Given the description of an element on the screen output the (x, y) to click on. 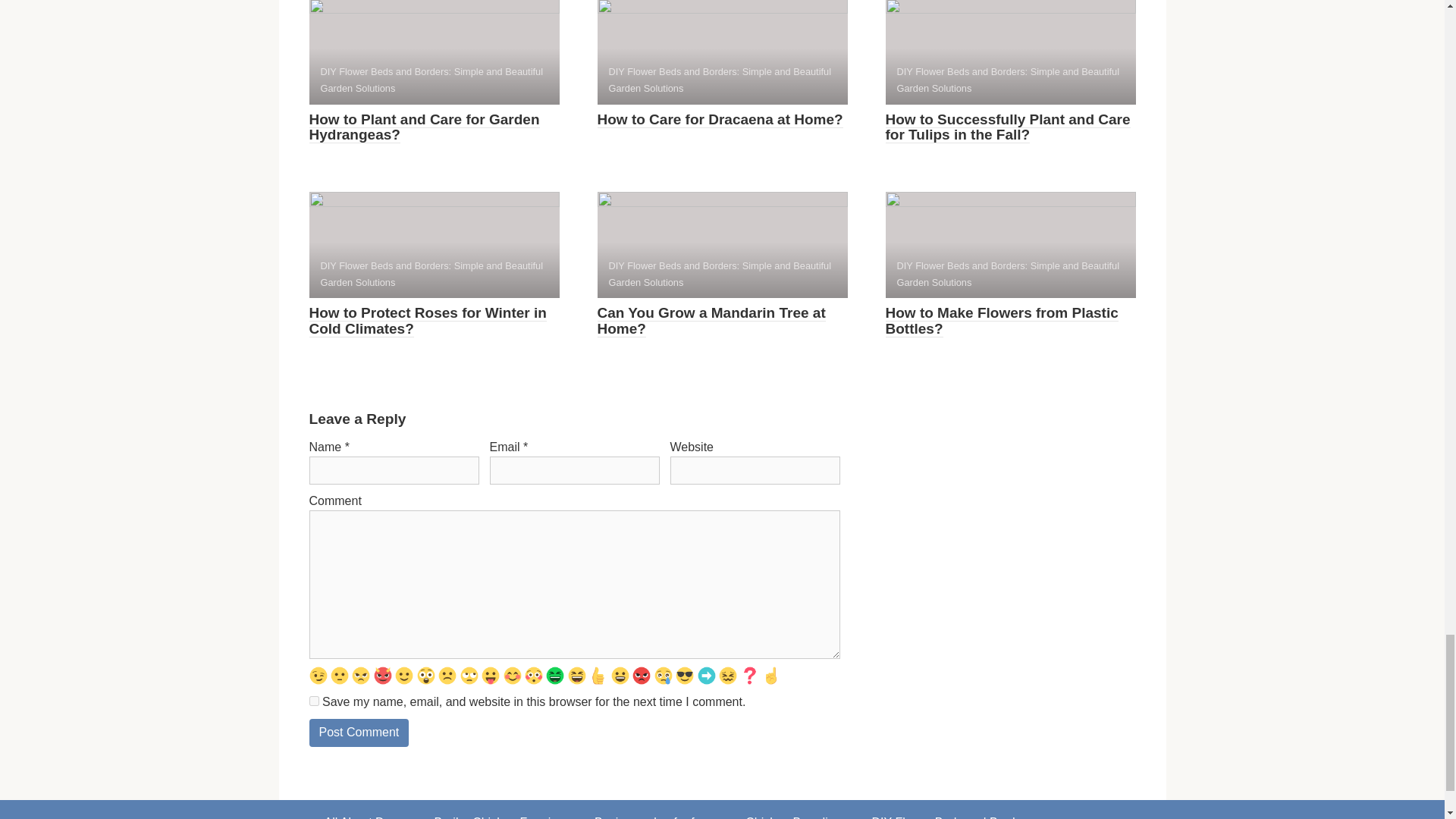
Can You Grow a Mandarin Tree at Home? (710, 320)
How to Plant and Care for Garden Hydrangeas? (424, 127)
yes (313, 700)
How to Protect Roses for Winter in Cold Climates? (427, 320)
Broiler Chicken Farming (499, 809)
Chicken Breeding (793, 809)
All About Dogs (363, 809)
